Given the description of an element on the screen output the (x, y) to click on. 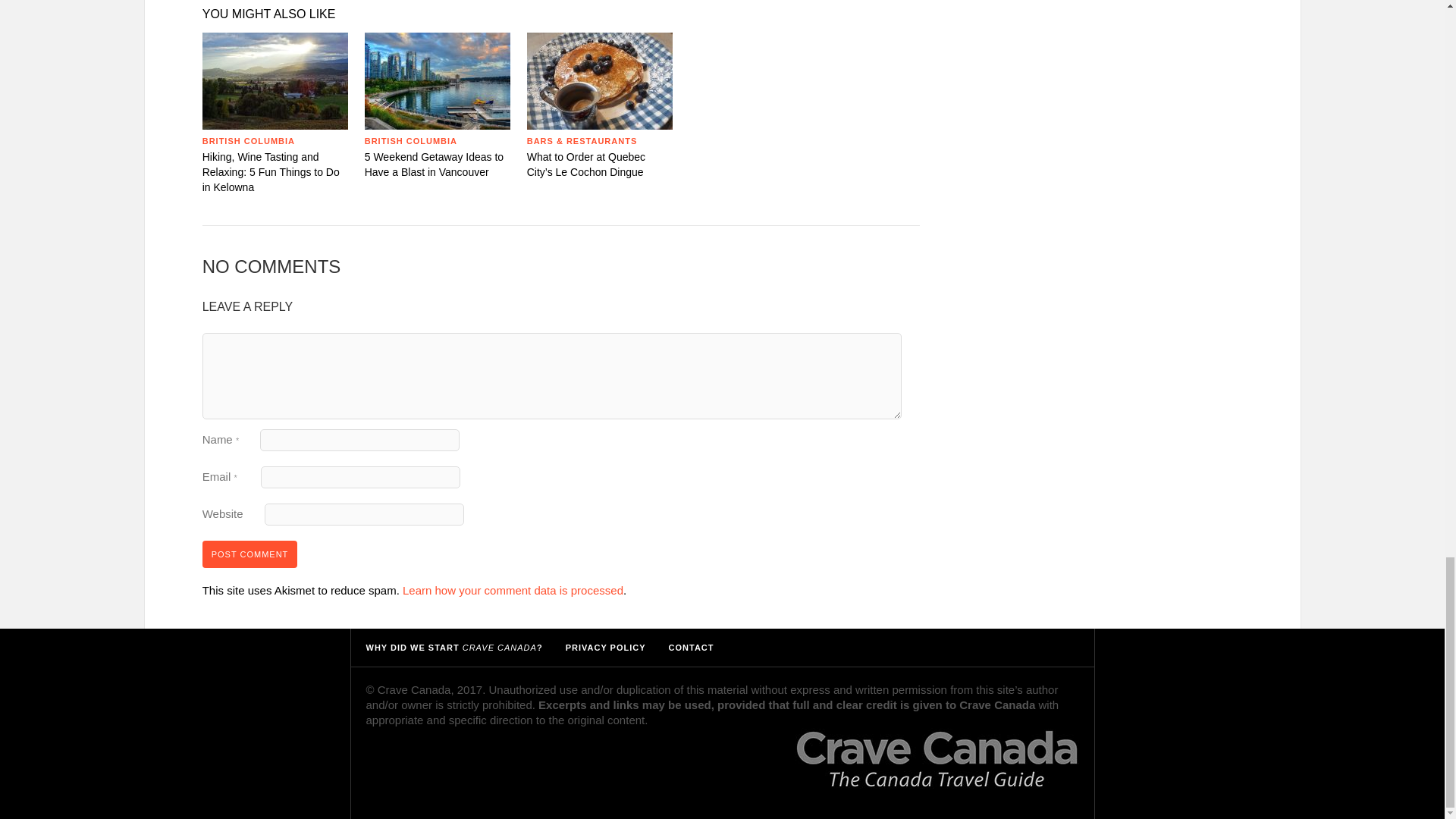
BRITISH COLUMBIA (248, 140)
Post comment (250, 554)
